Given the description of an element on the screen output the (x, y) to click on. 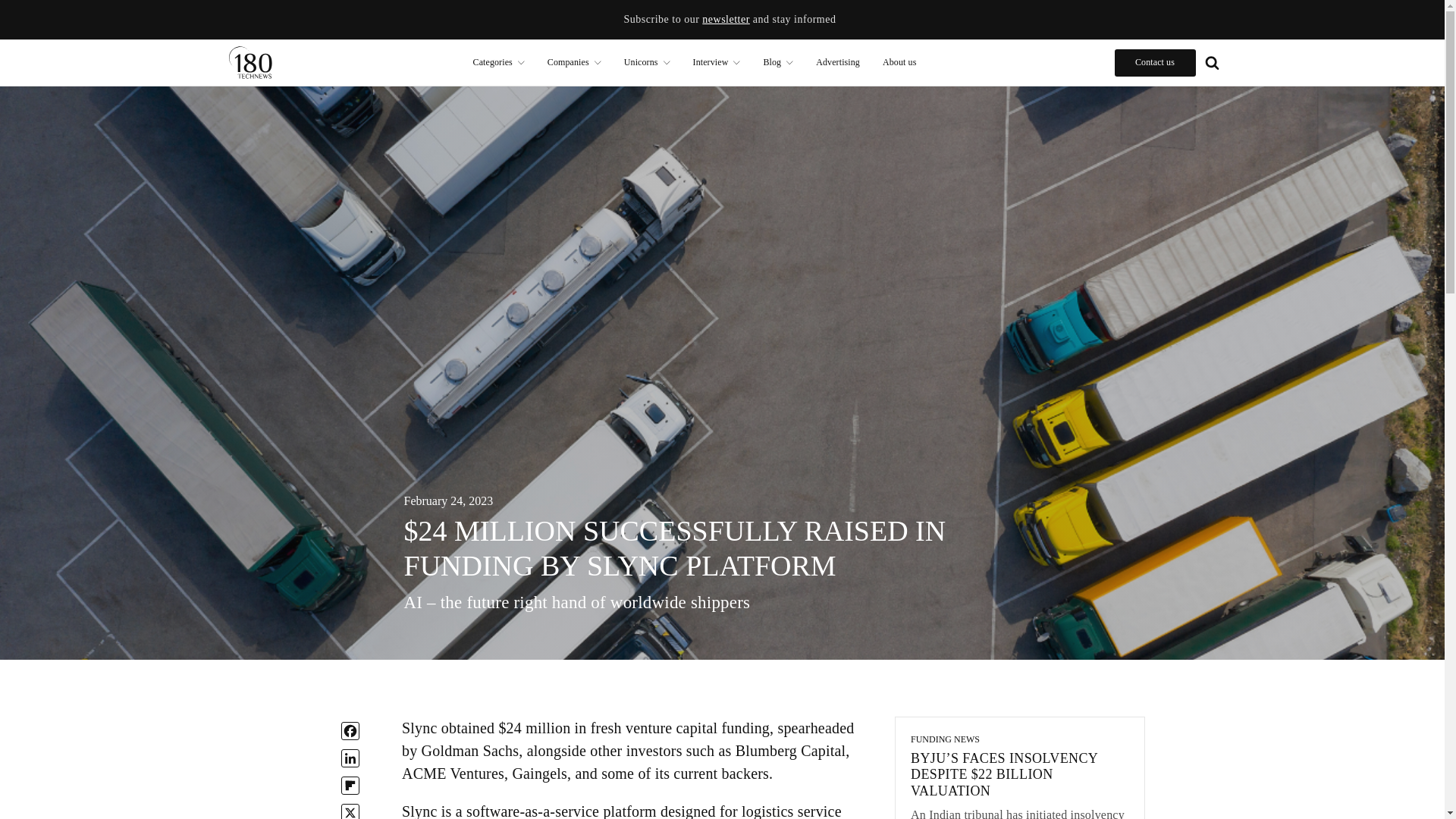
Advertising (837, 62)
Blog (778, 62)
About us (898, 62)
X (349, 811)
Flipboard (349, 785)
Unicorns (646, 62)
Categories (498, 62)
Facebook (349, 730)
Linkedin (349, 758)
Contact us (1155, 62)
newsletter (725, 19)
Companies (573, 62)
Interview (716, 62)
